Given the description of an element on the screen output the (x, y) to click on. 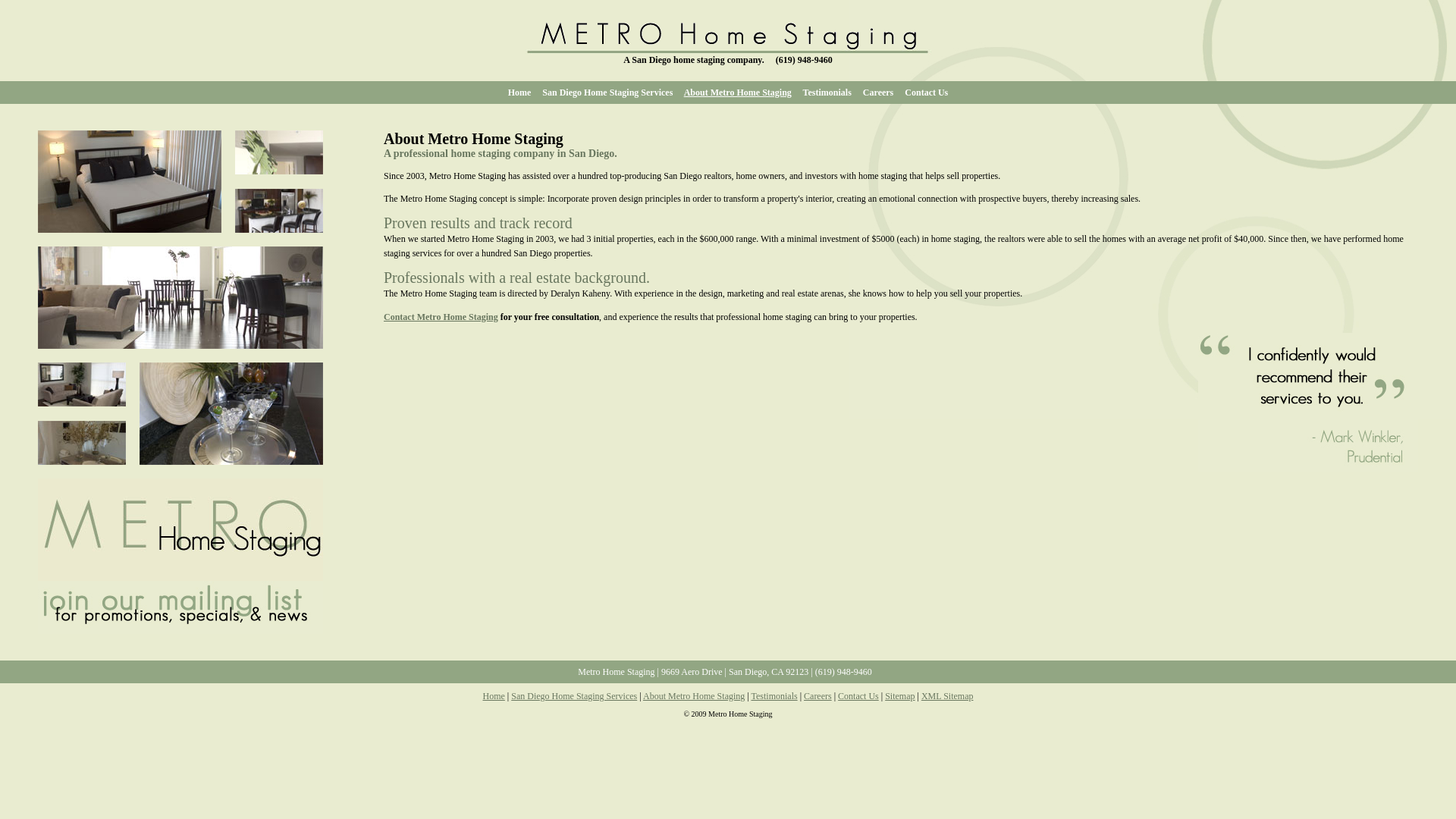
XML Sitemap (947, 696)
About Metro Home Staging (693, 696)
About Metro Home Staging (738, 91)
Home (492, 696)
San Diego Home Staging Services (574, 696)
Testimonials (773, 696)
Careers (878, 91)
Contact Us (858, 696)
Contact Us (925, 91)
Sitemap (899, 696)
San Diego Home Staging Services (606, 91)
Contact Metro Home Staging (440, 317)
Home (519, 91)
Testimonials (827, 91)
Careers (817, 696)
